Given the description of an element on the screen output the (x, y) to click on. 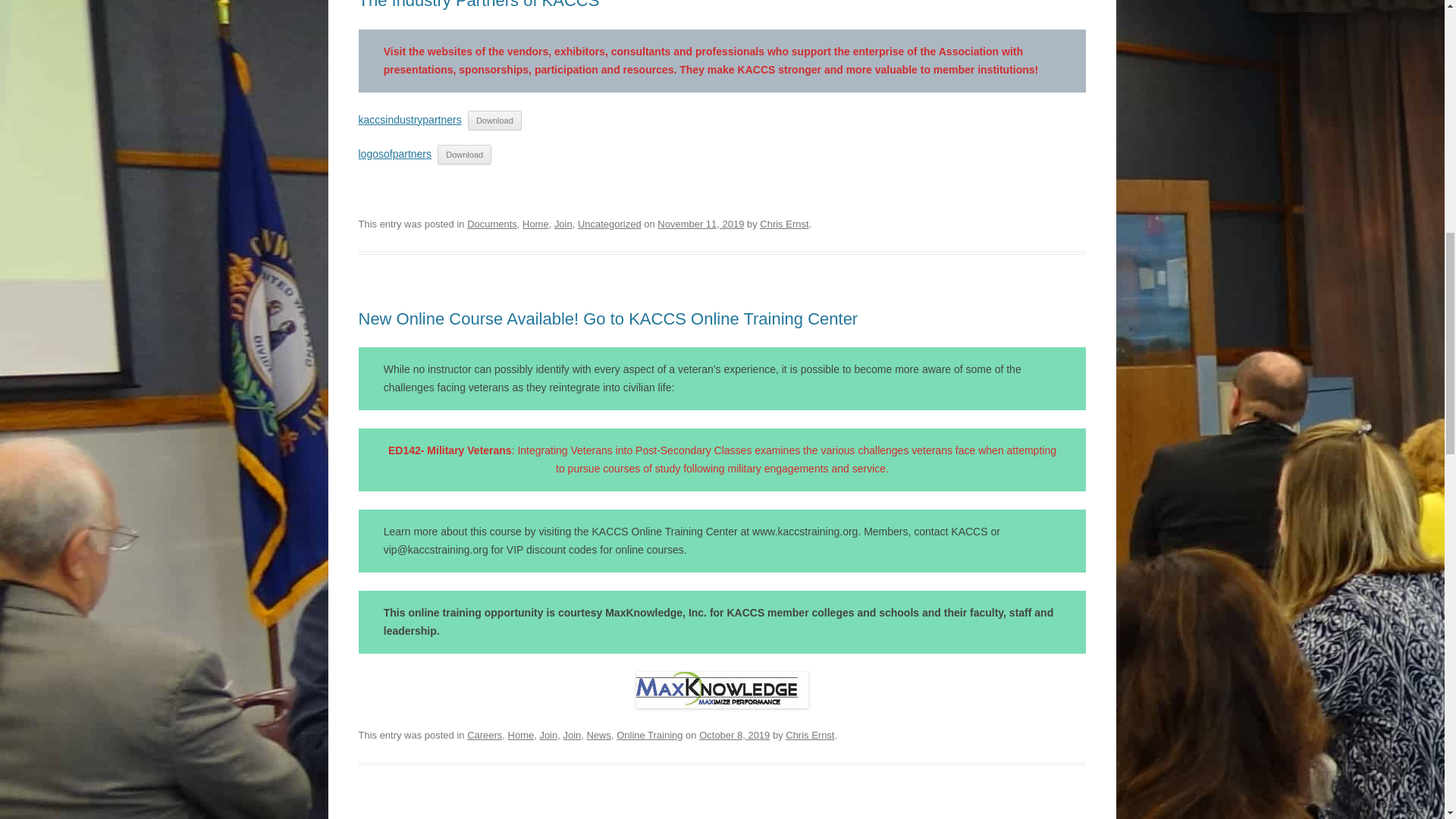
Download (465, 154)
View all posts by Chris Ernst (810, 735)
View all posts by Chris Ernst (784, 224)
News (598, 735)
2:27 pm (734, 735)
Home (521, 735)
logosofpartners (394, 153)
Chris Ernst (784, 224)
Download (494, 120)
Join (571, 735)
Join (563, 224)
Join (547, 735)
November 11, 2019 (701, 224)
October 8, 2019 (734, 735)
